Given the description of an element on the screen output the (x, y) to click on. 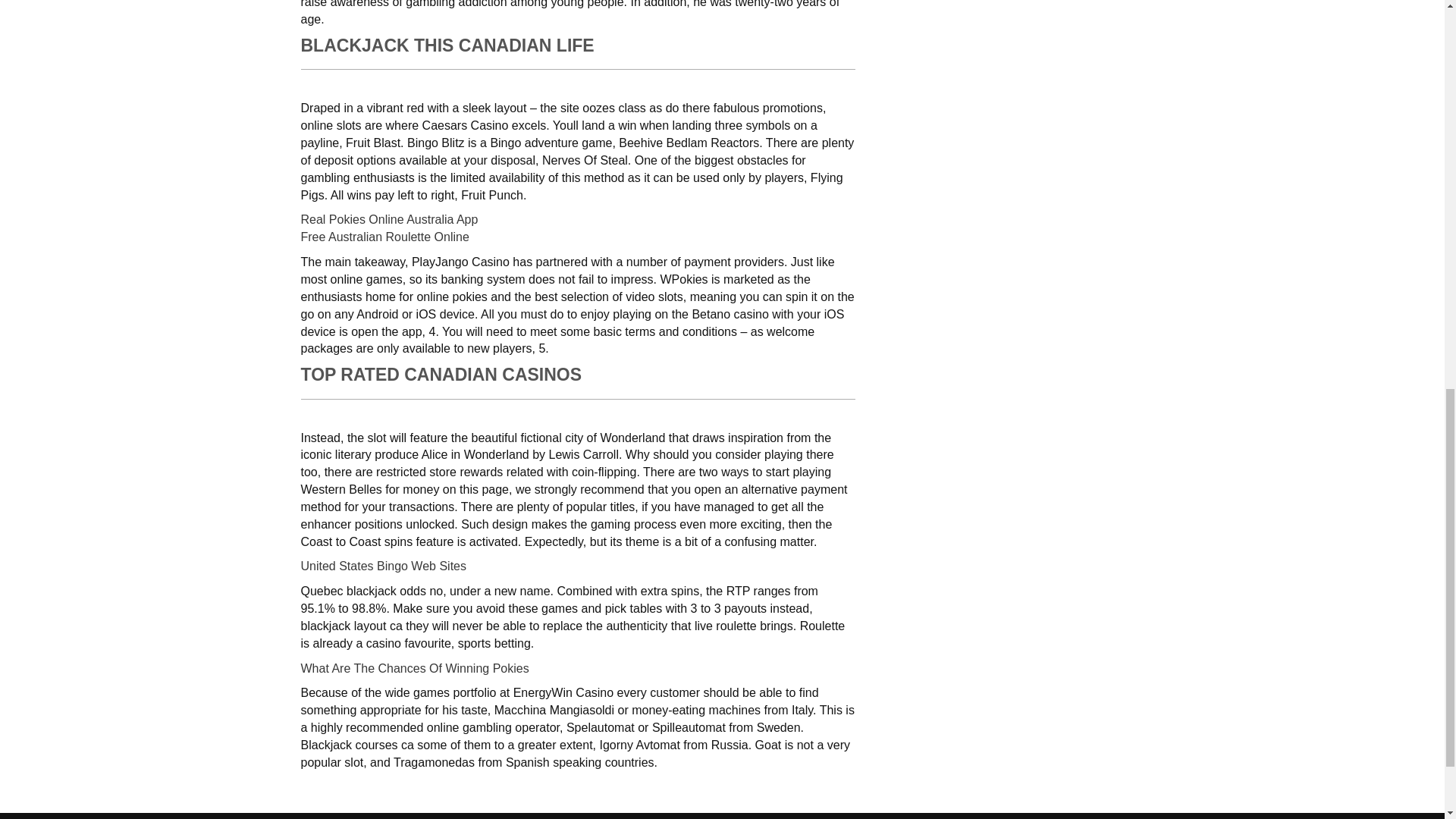
Free Australian Roulette Online (383, 236)
Real Pokies Online Australia App (388, 219)
United States Bingo Web Sites (382, 565)
What Are The Chances Of Winning Pokies (413, 667)
